Given the description of an element on the screen output the (x, y) to click on. 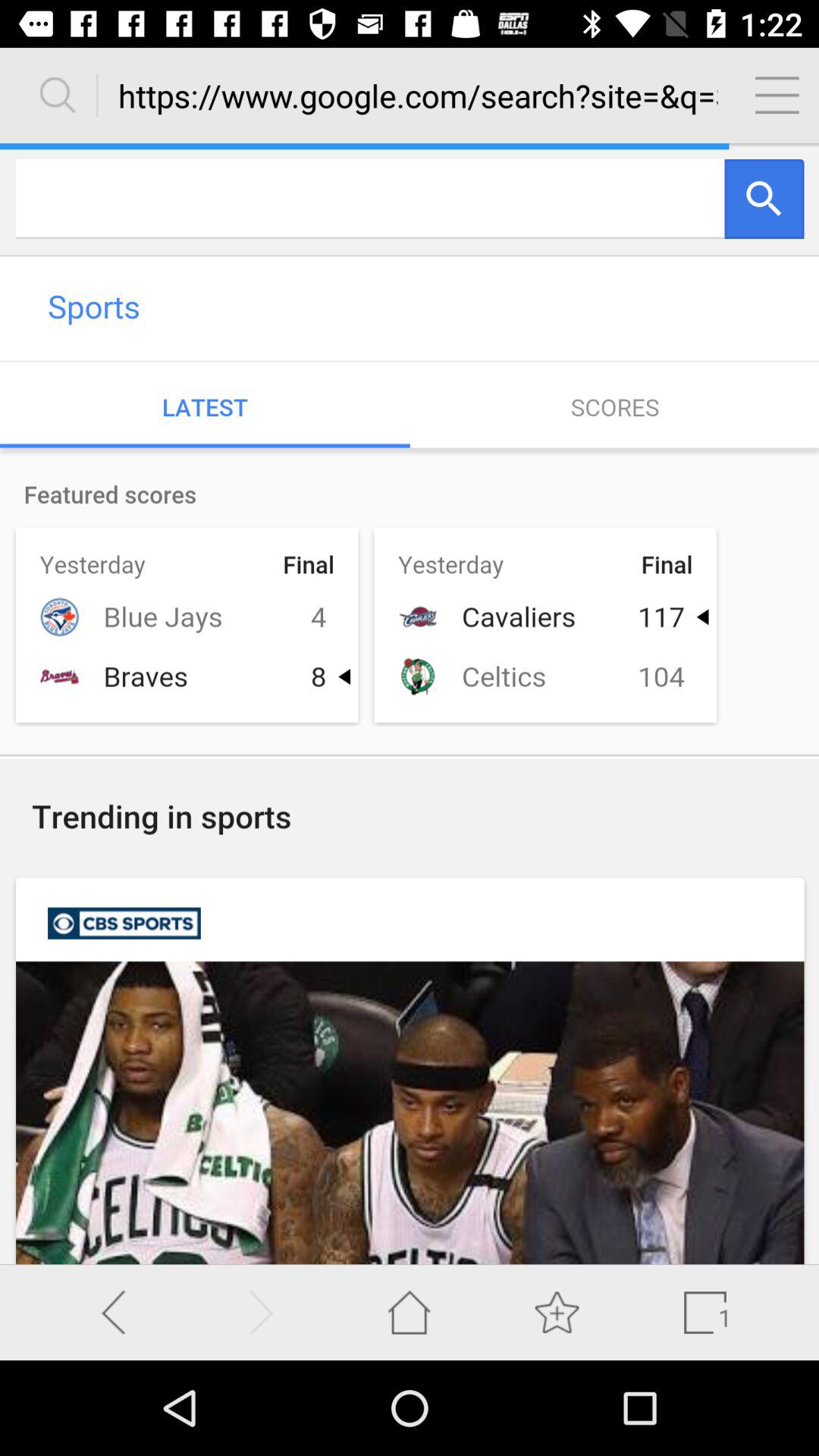
advertisement page (409, 703)
